Given the description of an element on the screen output the (x, y) to click on. 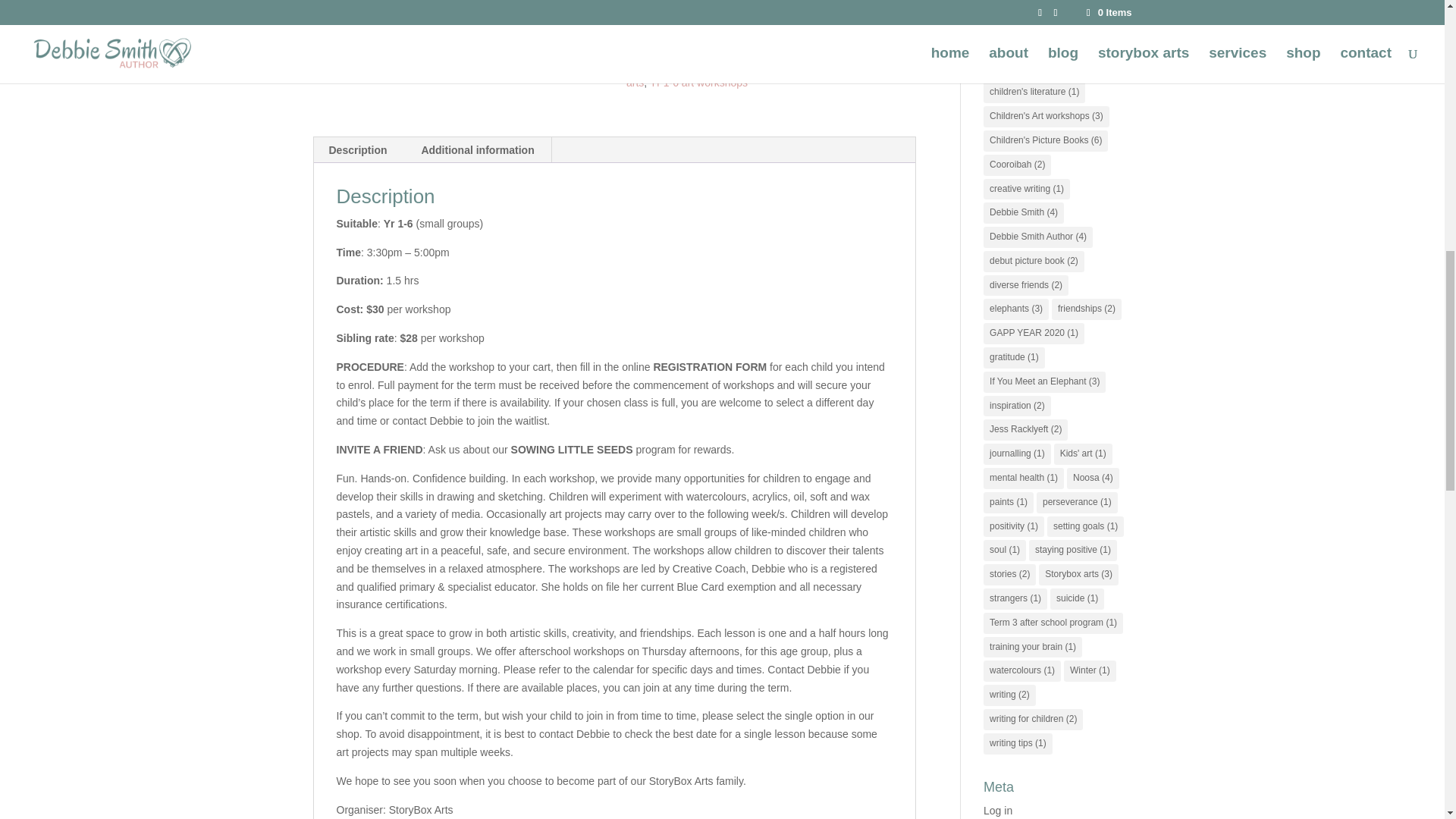
process art (786, 64)
sketching (840, 64)
storybox arts (768, 73)
childrens literature (710, 28)
Description (358, 149)
deb (748, 46)
kids art classes (765, 55)
creative writing (847, 28)
painting (736, 64)
Yr 1-6 art workshops (698, 82)
